Given the description of an element on the screen output the (x, y) to click on. 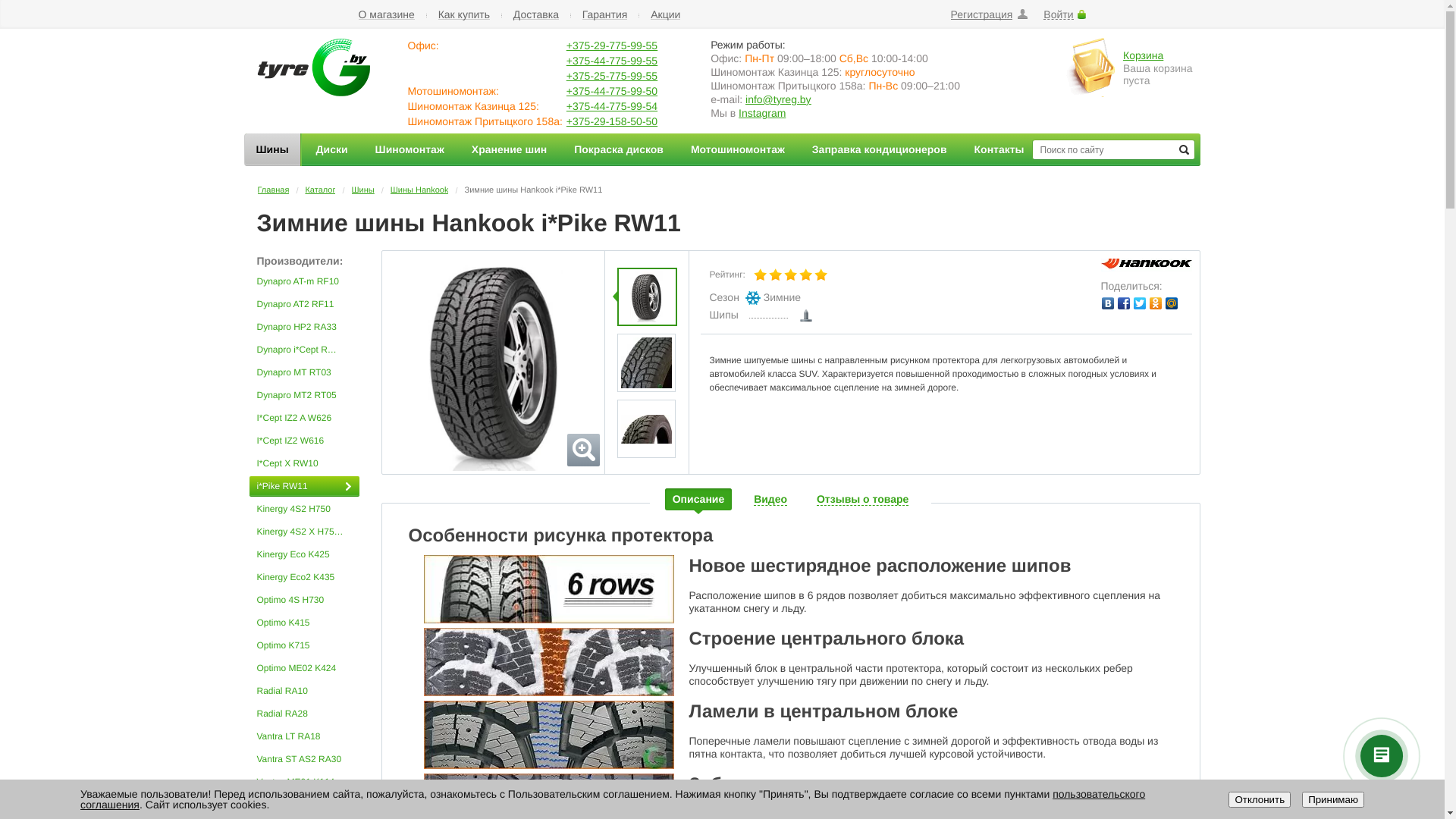
Radial RA10 Element type: text (303, 690)
Dynapro MT RT03 Element type: text (303, 372)
Dynapro MT2 RT05 Element type: text (303, 395)
Vantra ST AS2 RA30 Element type: text (303, 759)
Optimo K415 Element type: text (303, 622)
5 Element type: hover (820, 274)
Dynapro AT2 RF11 Element type: text (303, 304)
+375-25-775-99-55 Element type: text (611, 75)
i*Pike RW11 Element type: hover (493, 362)
2 Element type: hover (775, 274)
+375-44-775-99-54 Element type: text (611, 106)
I*Cept X RW10 Element type: text (303, 463)
3 Element type: hover (790, 274)
Optimo K715 Element type: text (303, 645)
I*Cept IZ2 A W626 Element type: text (303, 417)
+375-44-775-99-55 Element type: text (611, 60)
Kinergy Eco K425 Element type: text (303, 554)
Optimo ME02 K424 Element type: text (303, 668)
Dynapro HP2 RA33 Element type: text (303, 326)
Kinergy 4S2 X H750A Element type: text (303, 531)
Hankook Element type: hover (1146, 265)
Optimo 4S H730 Element type: text (303, 599)
4 Element type: hover (805, 274)
i*Pike RW11 Element type: hover (645, 362)
Ventus ME01 K114 Element type: text (303, 781)
Kinergy 4S2 H750 Element type: text (303, 508)
Twitter Element type: hover (1139, 303)
Dynapro i*Cept RW08 Element type: text (303, 349)
i*Pike RW11 Element type: hover (645, 296)
+375-44-775-99-50 Element type: text (611, 90)
info@tyreg.by Element type: text (778, 99)
Vantra LT RA18 Element type: text (303, 736)
i*Pike RW11 Element type: text (303, 486)
Kinergy Eco2 K435 Element type: text (303, 577)
1 Element type: hover (760, 274)
Ventus Prime 2 K115 Element type: text (303, 804)
I*Cept IZ2 W616 Element type: text (303, 440)
Dynapro AT-m RF10 Element type: text (303, 281)
+375-29-775-99-55 Element type: text (611, 45)
i*Pike RW11 Element type: hover (645, 428)
Facebook Element type: hover (1124, 303)
Radial RA28 Element type: text (303, 713)
+375-29-158-50-50 Element type: text (611, 121)
Instagram Element type: text (761, 112)
